Given the description of an element on the screen output the (x, y) to click on. 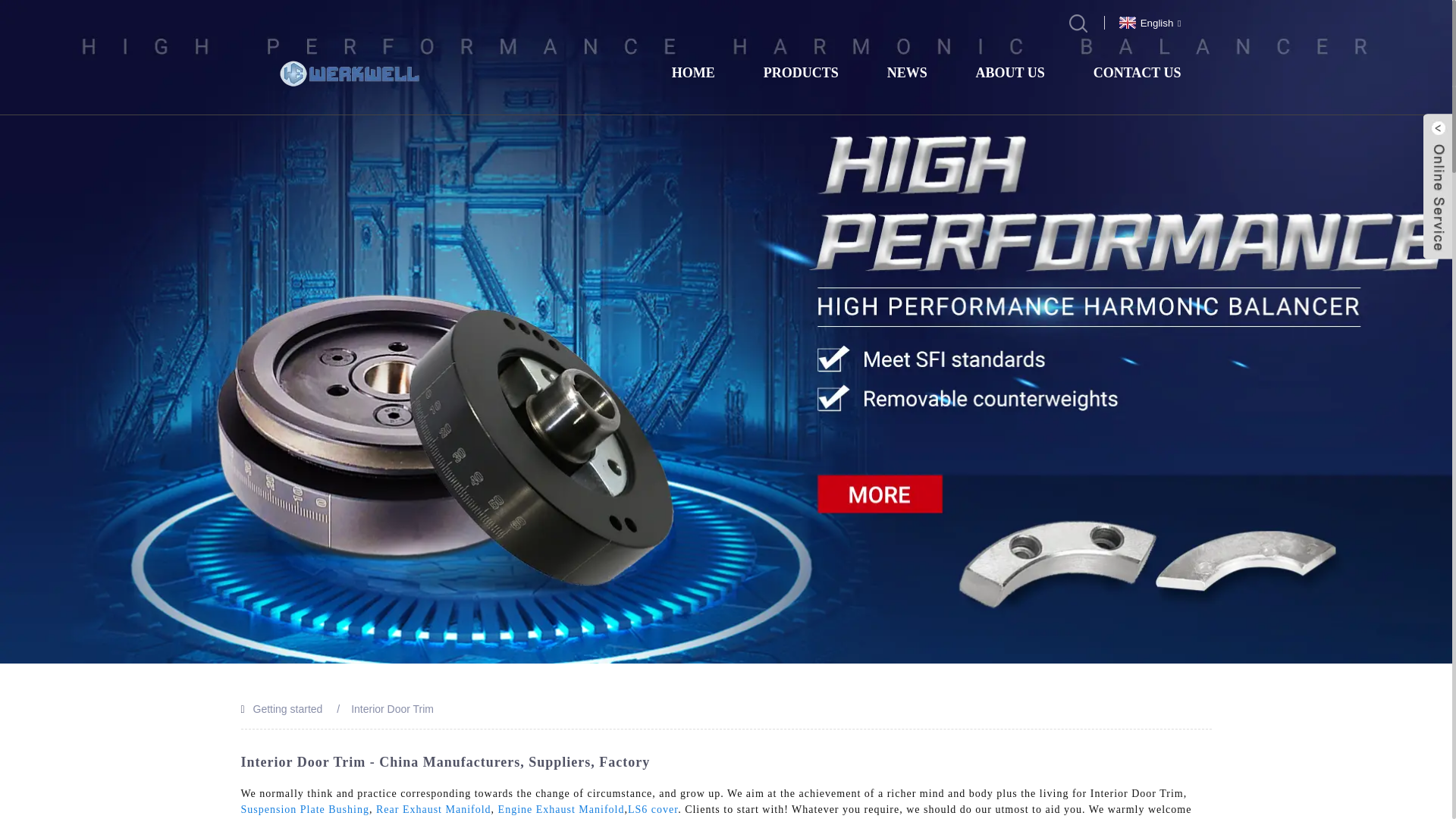
CONTACT US (1136, 72)
LS6 cover (652, 808)
Engine Exhaust Manifold (560, 808)
Rear Exhaust Manifold (433, 808)
PRODUCTS (800, 72)
Rear Exhaust Manifold (433, 808)
Suspension Plate Bushing (305, 808)
Suspension Plate Bushing (305, 808)
English (1147, 21)
Engine Exhaust Manifold (560, 808)
